Given the description of an element on the screen output the (x, y) to click on. 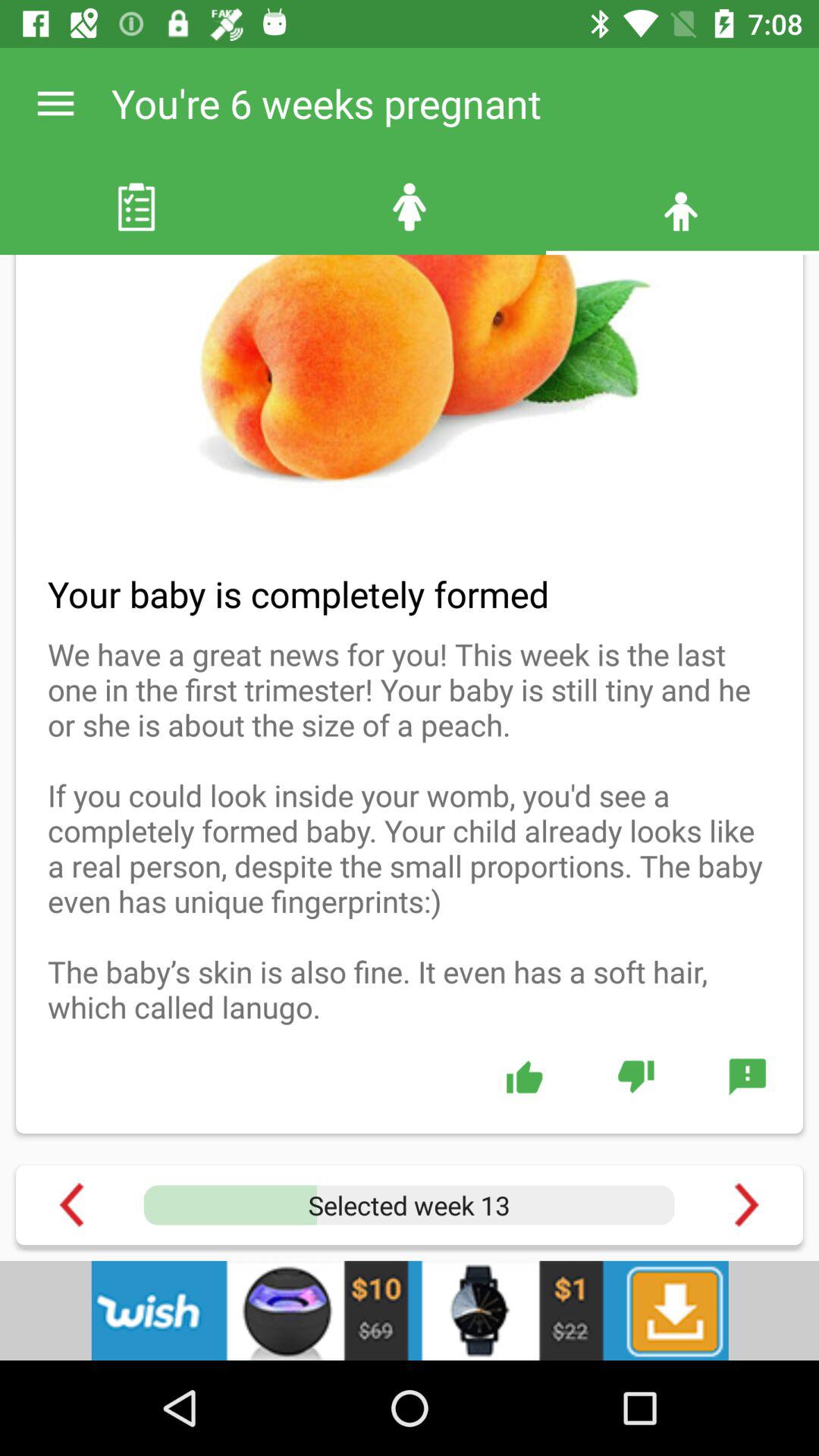
like the image (524, 1076)
